Given the description of an element on the screen output the (x, y) to click on. 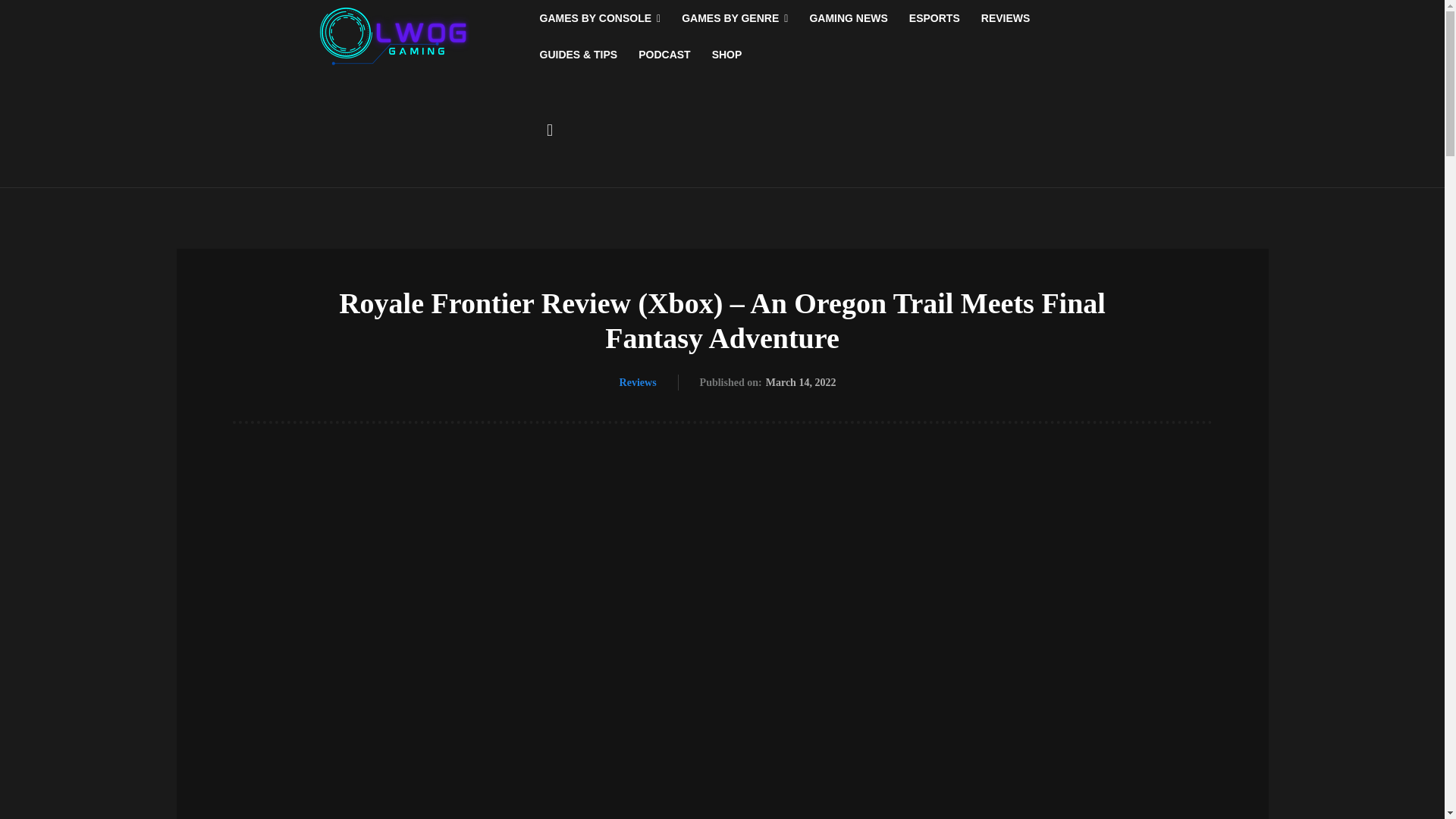
GAMING NEWS (847, 18)
GAMES BY GENRE (734, 18)
ESPORTS (934, 18)
REVIEWS (1006, 18)
PODCAST (663, 54)
GAMES BY CONSOLE (600, 18)
SHOP (726, 54)
Reviews (638, 382)
